Given the description of an element on the screen output the (x, y) to click on. 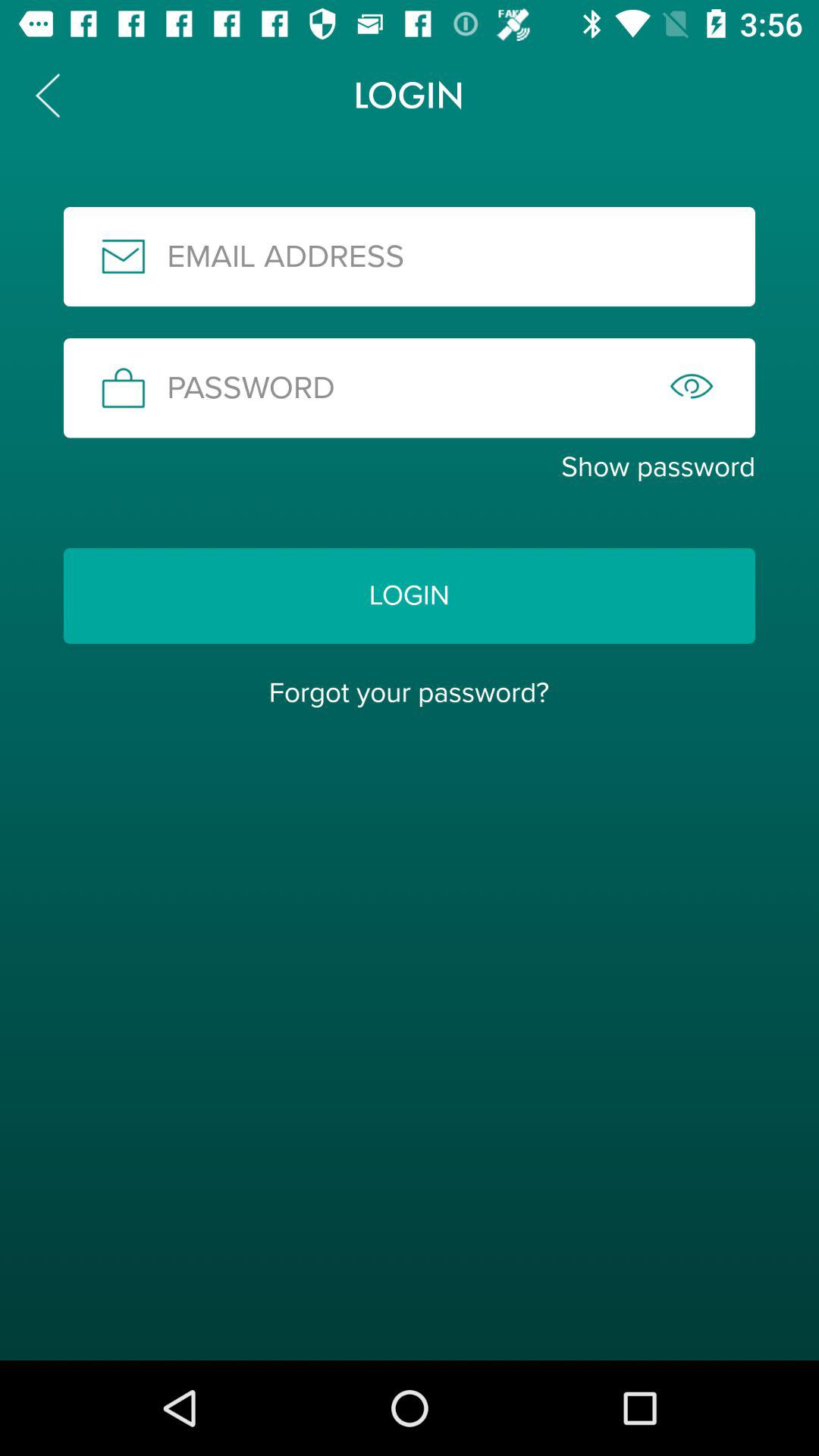
tap the show password (409, 466)
